Given the description of an element on the screen output the (x, y) to click on. 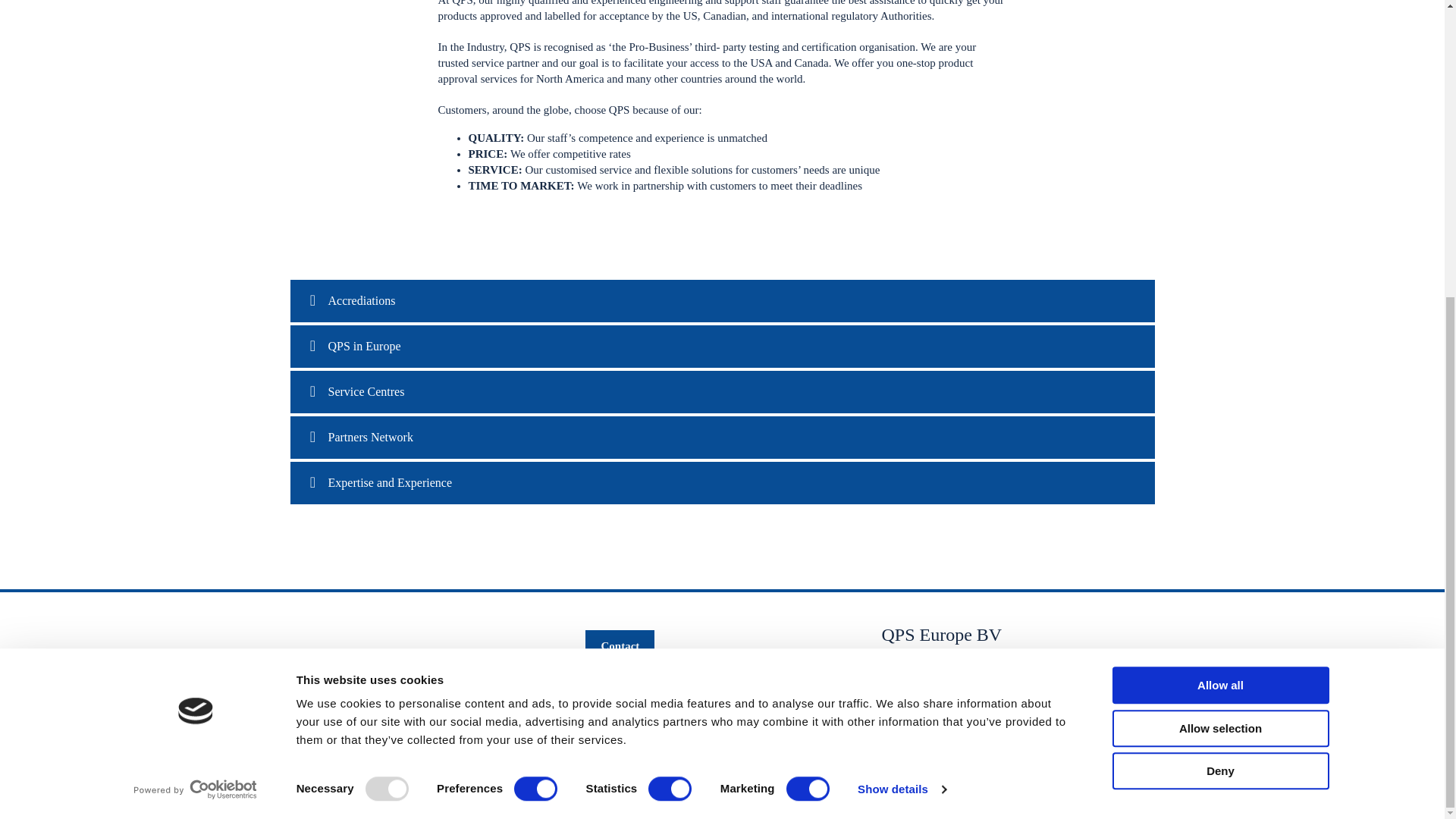
Show details (900, 330)
Allow all (1219, 226)
Deny (1219, 311)
Allow selection (1219, 269)
